Given the description of an element on the screen output the (x, y) to click on. 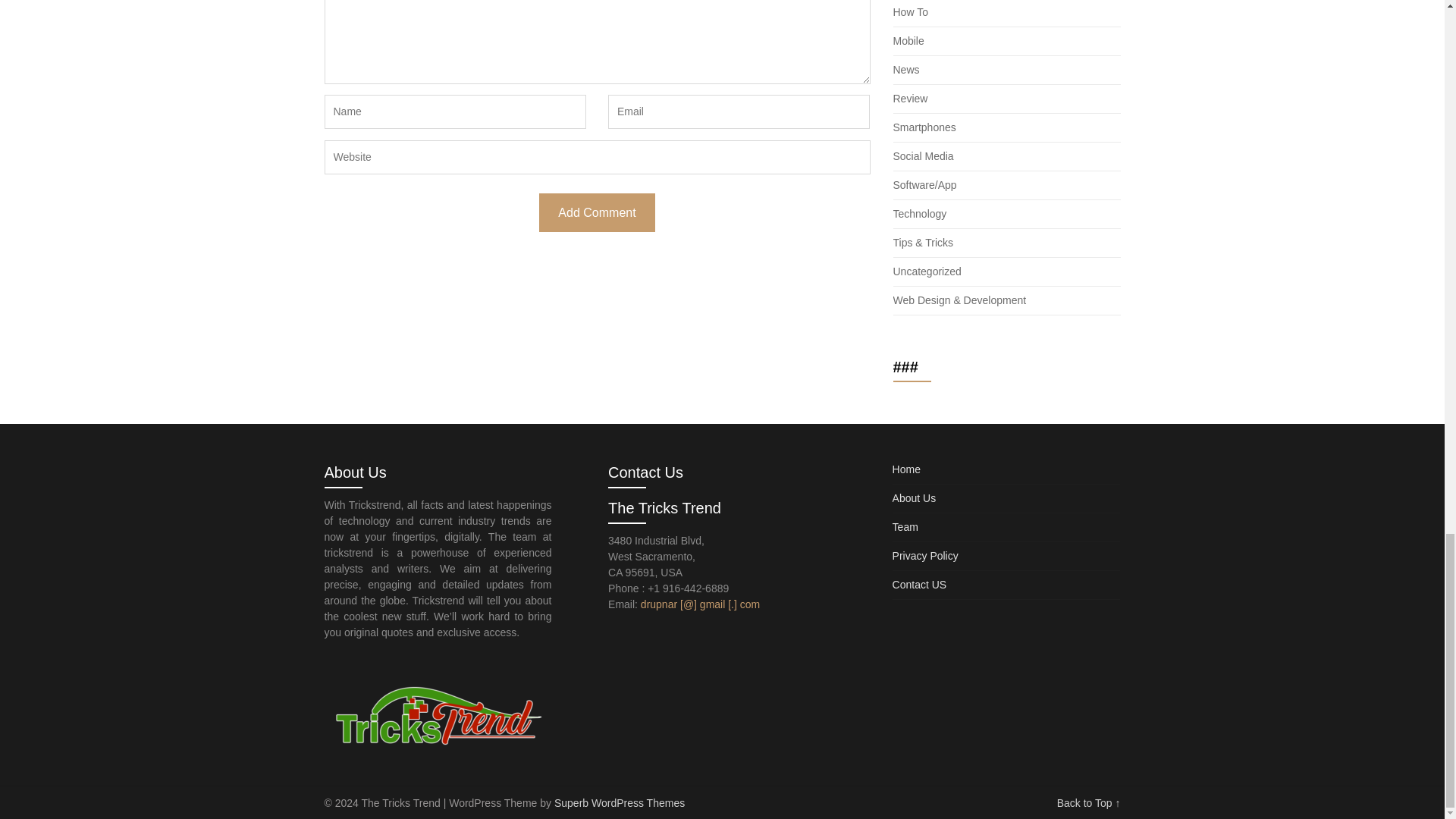
How To (910, 11)
News (906, 69)
Add Comment (595, 212)
Mobile (908, 40)
Add Comment (595, 212)
